Given the description of an element on the screen output the (x, y) to click on. 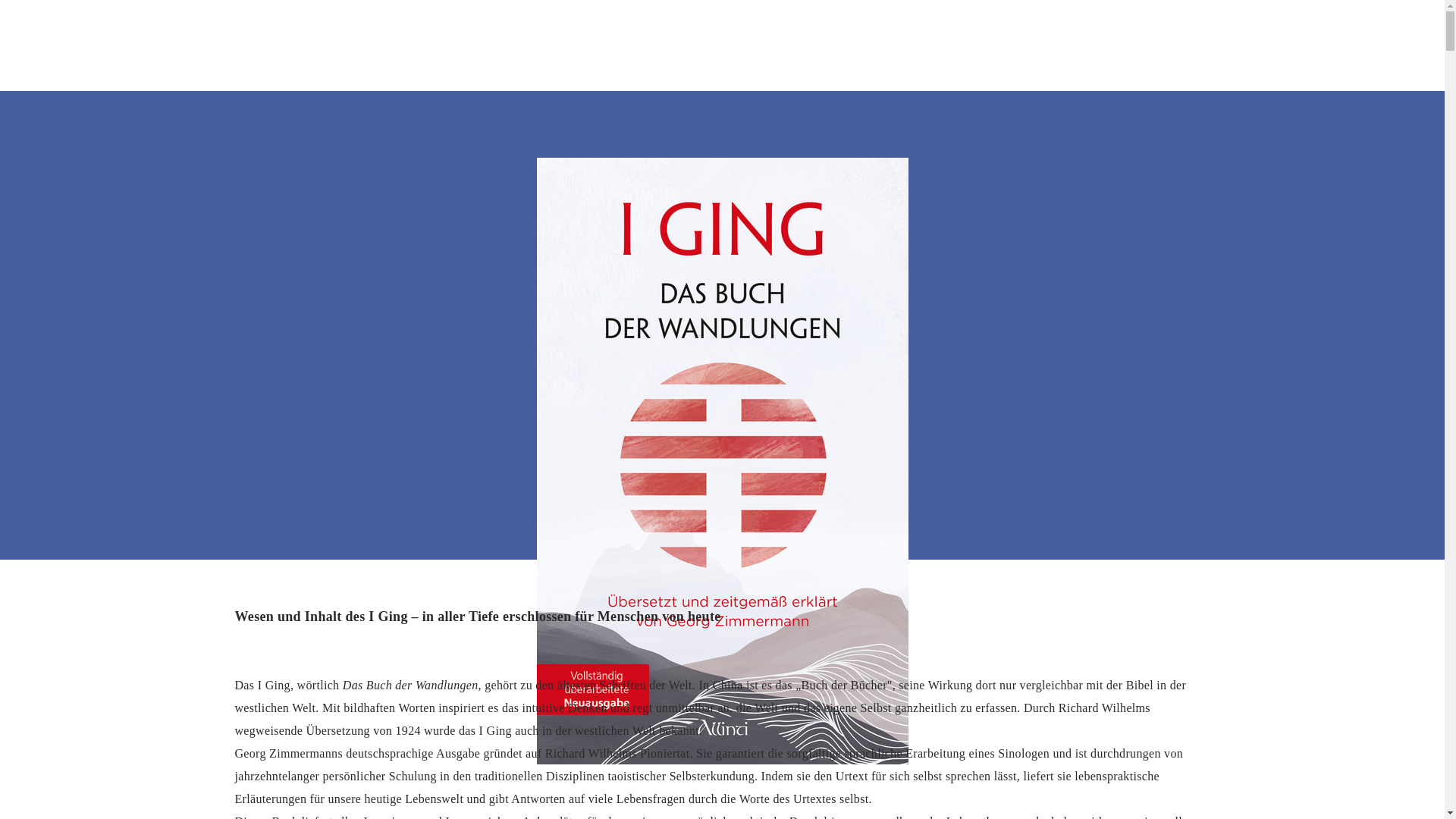
Update cookies preferences Element type: text (75, 6)
